Given the description of an element on the screen output the (x, y) to click on. 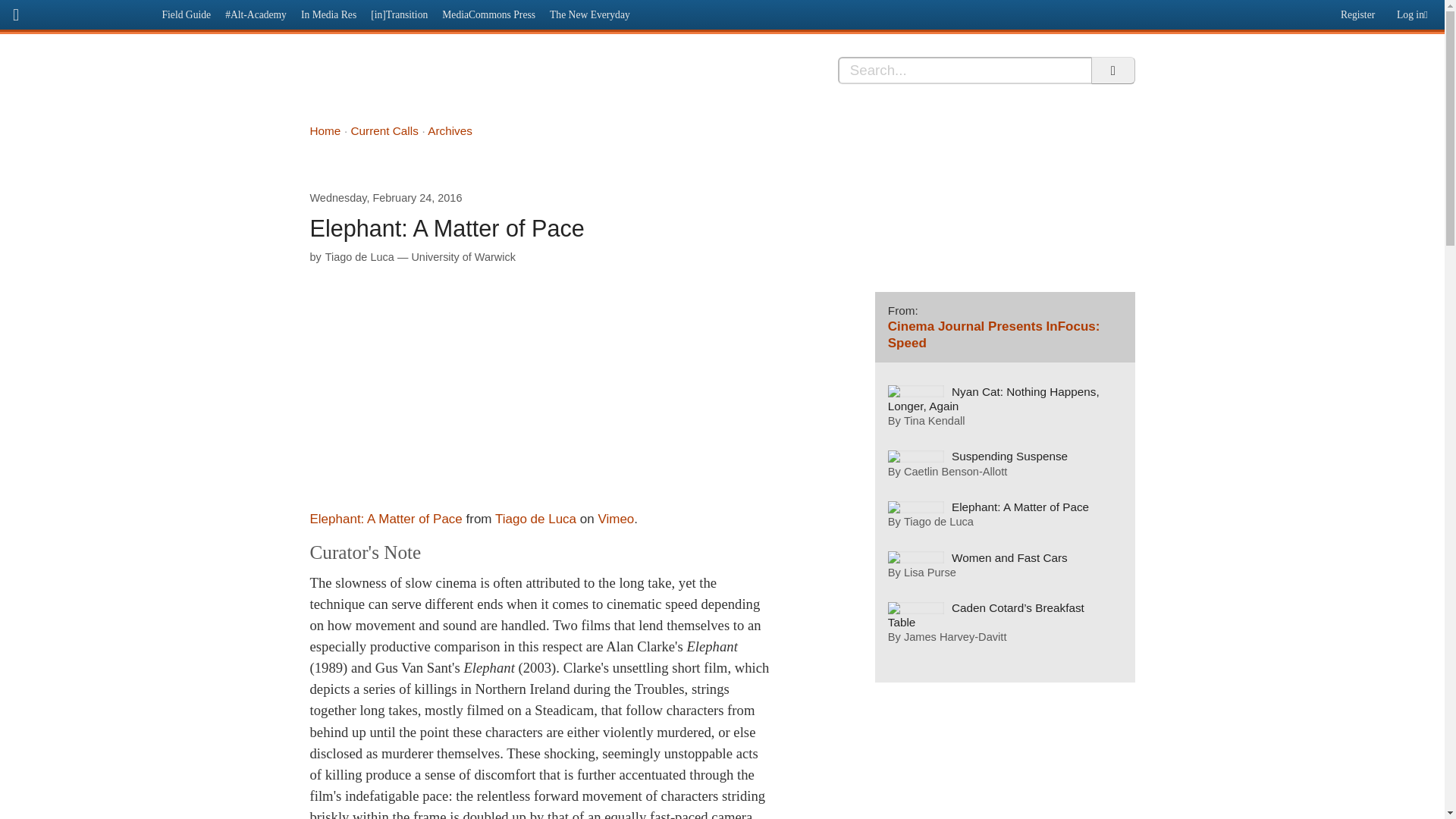
Vimeo (614, 518)
Tiago de Luca (359, 256)
In Media Res (328, 14)
Elephant: A Matter of Pace (384, 518)
In Media Res (424, 79)
Enter the terms you wish to search for. (965, 70)
The New Everyday (590, 14)
Tiago de Luca (535, 518)
MediaCommons Press (489, 14)
Home (324, 130)
Field Guide (186, 14)
Register (1355, 11)
Front page (77, 11)
University of Warwick (462, 256)
